Given the description of an element on the screen output the (x, y) to click on. 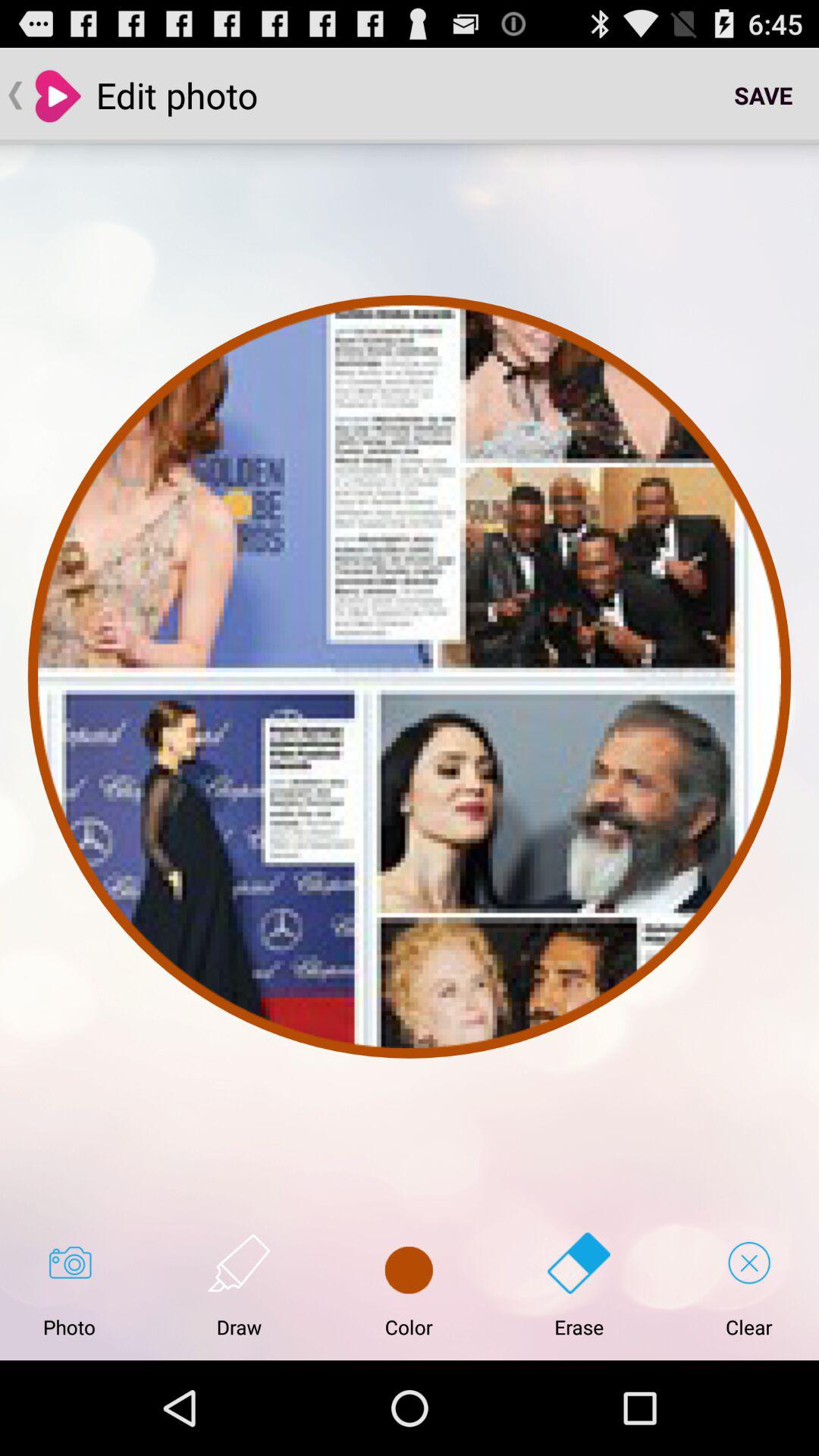
choose icon to the right of the color button (579, 1285)
